Given the description of an element on the screen output the (x, y) to click on. 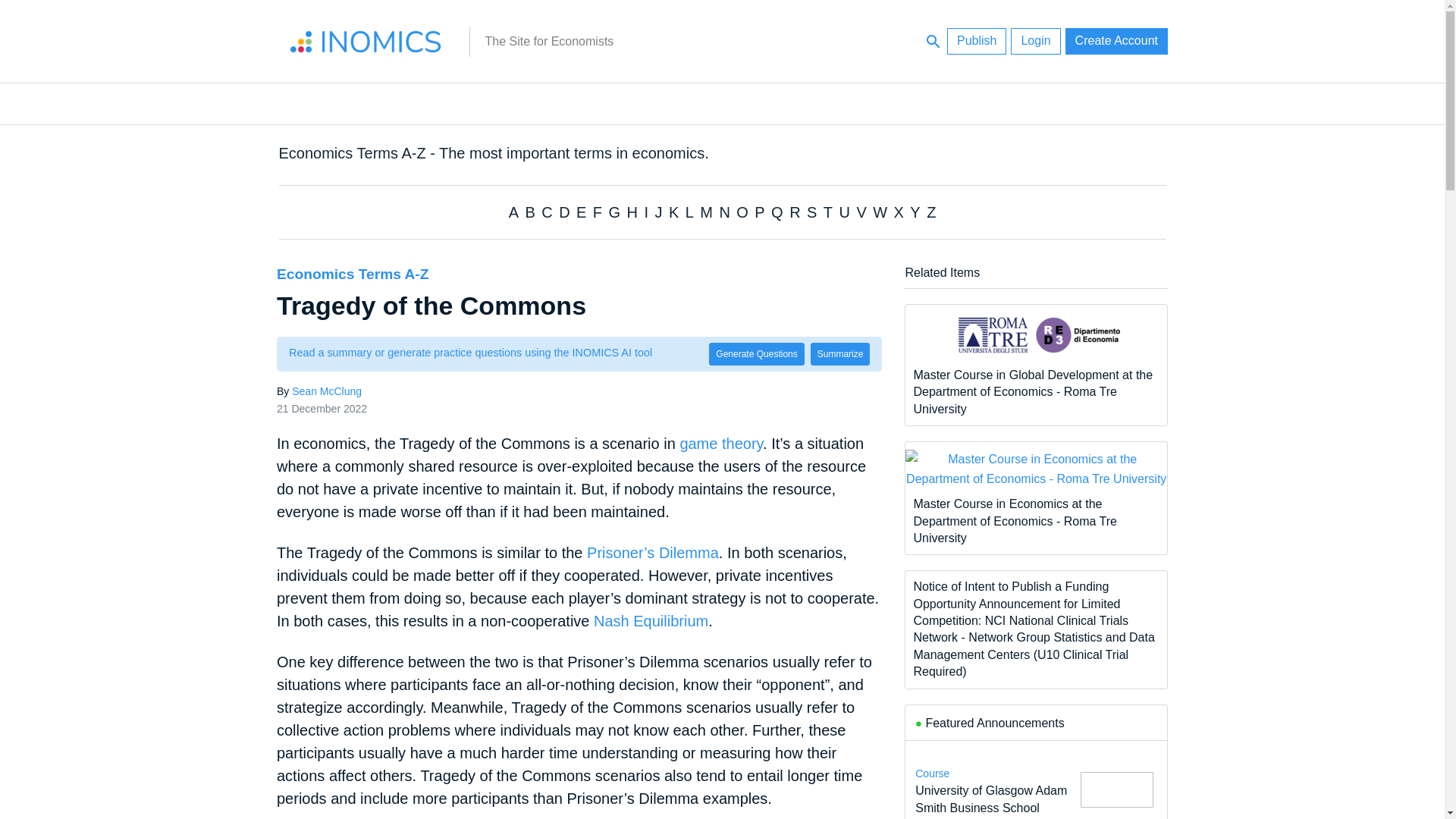
Share on Facebook (224, 382)
Home (365, 40)
Share on LinkedIn (224, 286)
Email (224, 350)
Tweet (224, 318)
